Given the description of an element on the screen output the (x, y) to click on. 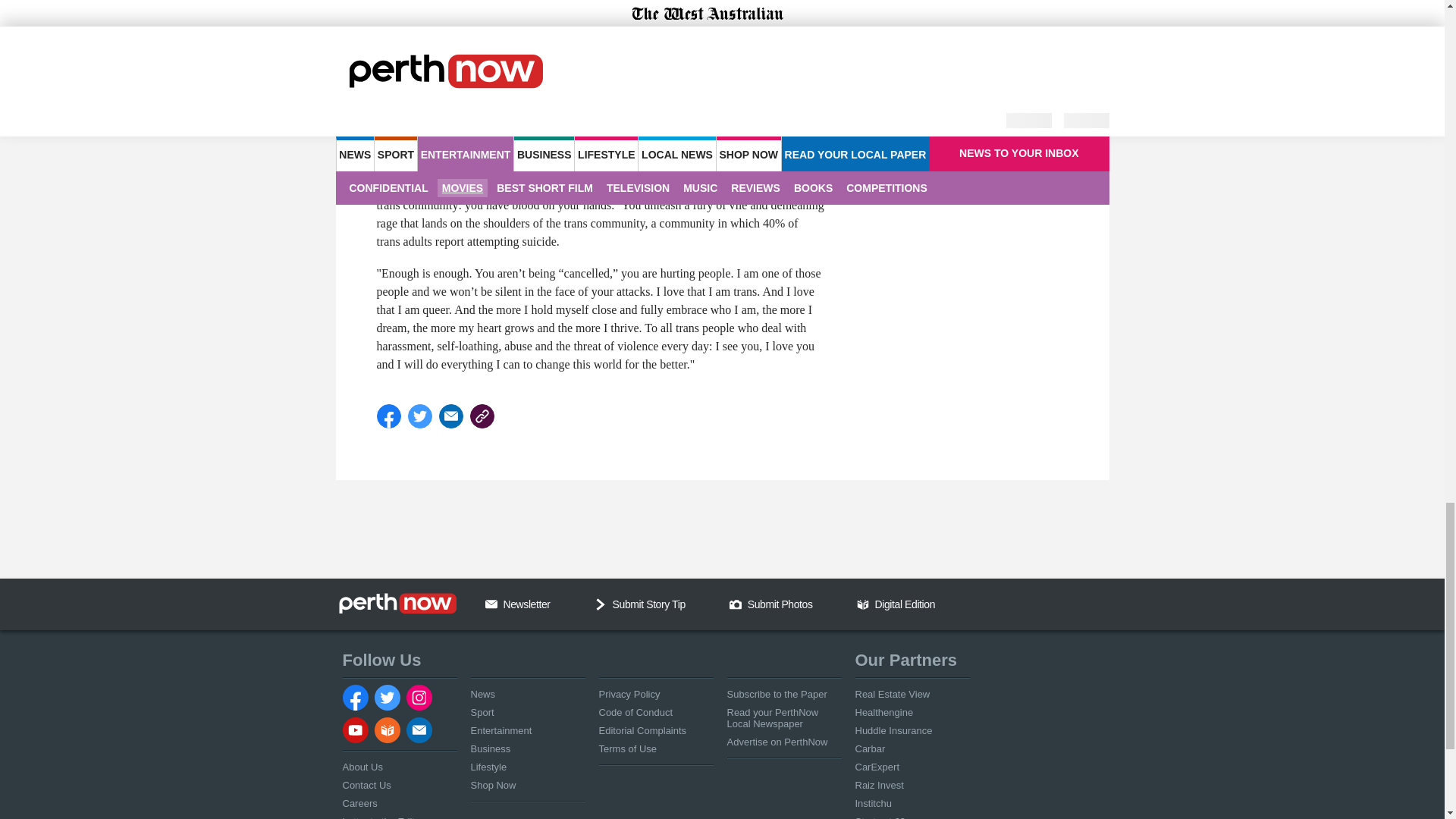
Email Us (490, 604)
Get Digital Edition (863, 604)
Camera Icon (735, 604)
Chevron Down Icon (600, 604)
